Given the description of an element on the screen output the (x, y) to click on. 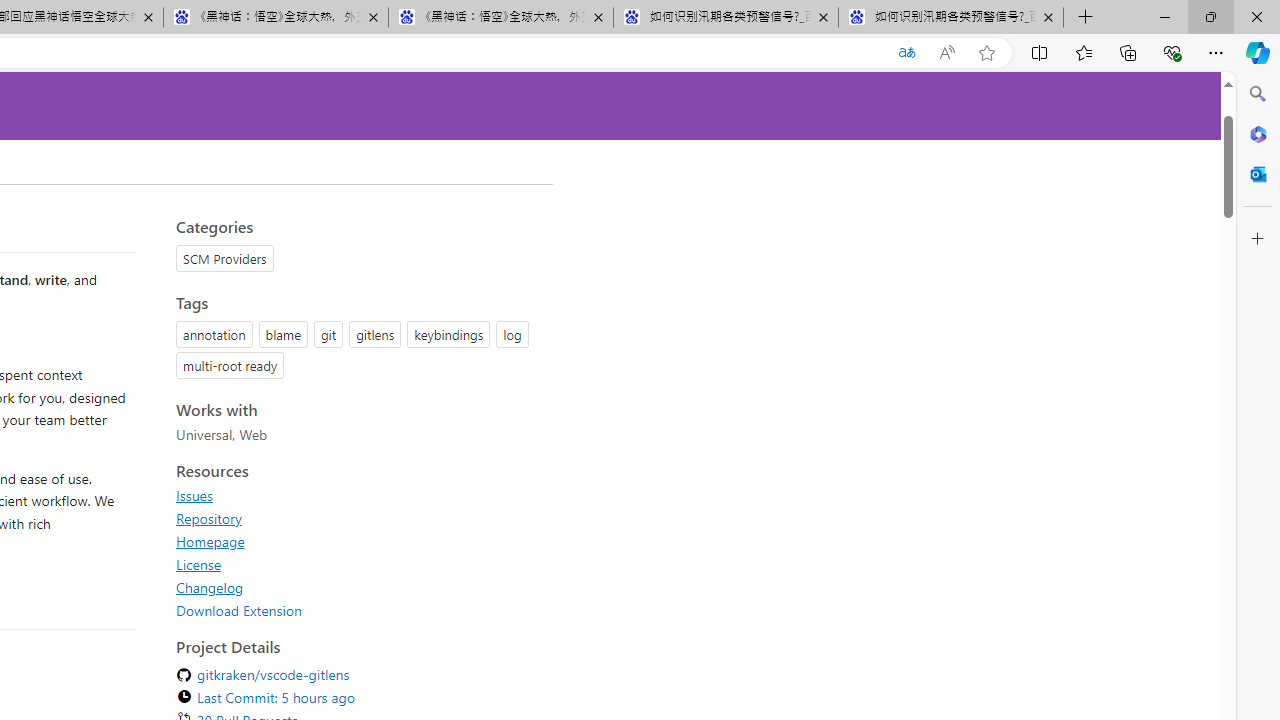
Homepage (210, 541)
Issues (194, 495)
License (358, 564)
